Given the description of an element on the screen output the (x, y) to click on. 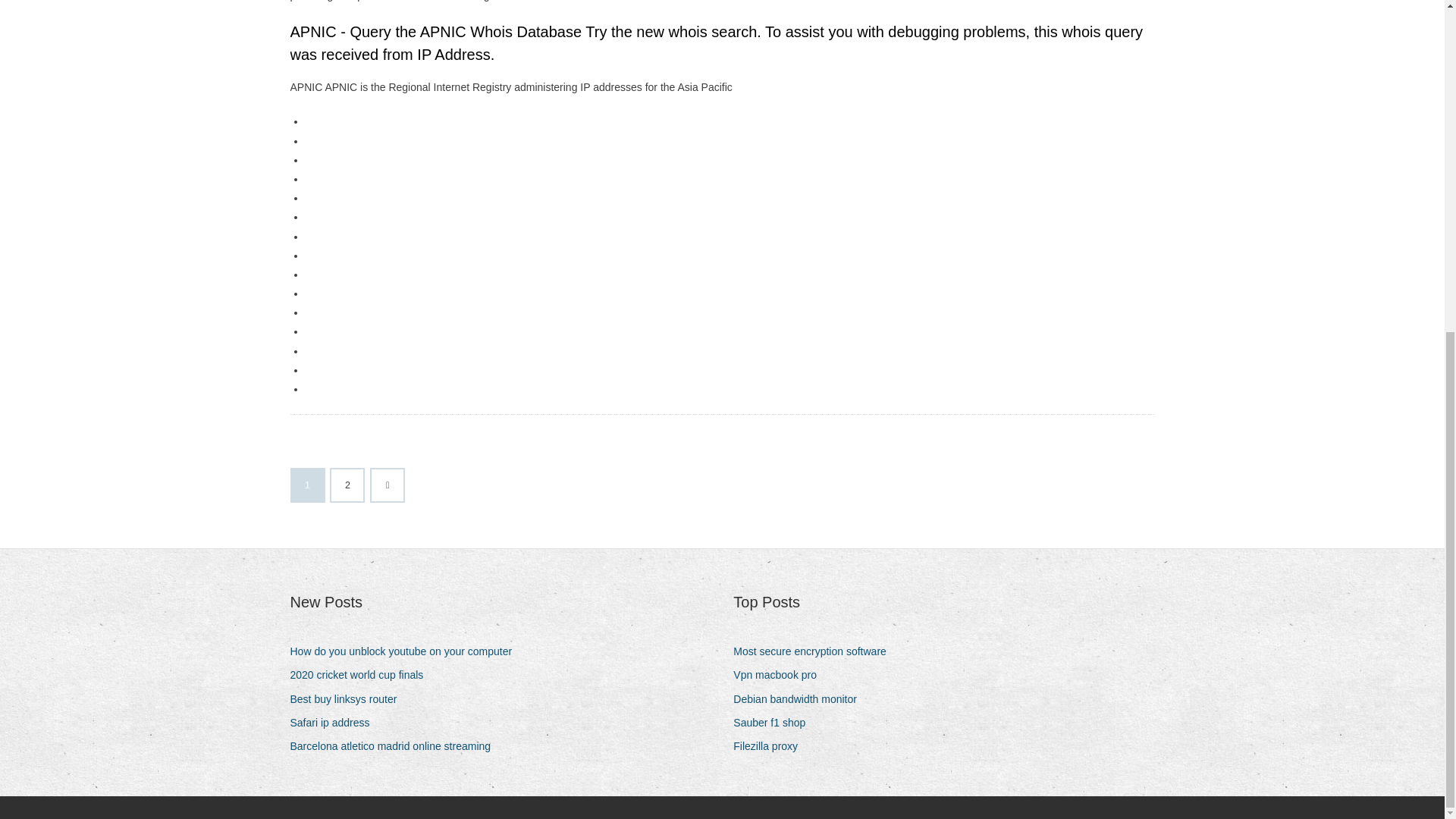
Vpn macbook pro (780, 675)
Sauber f1 shop (774, 722)
Most secure encryption software (815, 651)
Filezilla proxy (771, 746)
How do you unblock youtube on your computer (405, 651)
2 (346, 485)
Safari ip address (334, 722)
Debian bandwidth monitor (800, 699)
Best buy linksys router (348, 699)
2020 cricket world cup finals (361, 675)
